Given the description of an element on the screen output the (x, y) to click on. 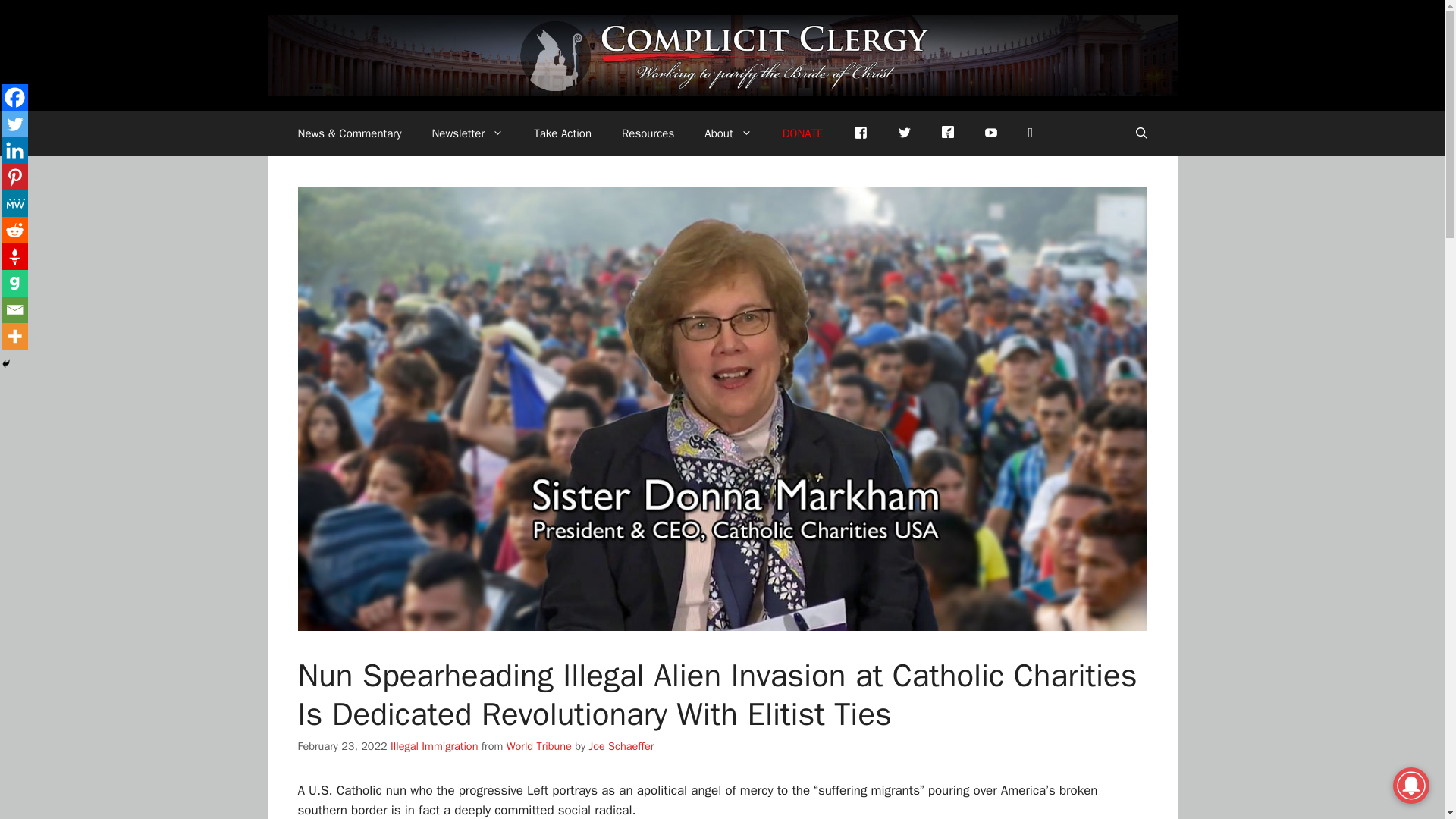
Resources (647, 133)
YouTube (991, 133)
Gettr (947, 130)
DONATE (802, 133)
Joe Schaeffer (620, 745)
Twitter (14, 123)
Facebook (14, 97)
World Tribune (539, 745)
Take Action (562, 133)
Illegal Immigration (433, 745)
Newsletter (467, 133)
About (727, 133)
Facebook (860, 133)
Twitter (904, 133)
